Given the description of an element on the screen output the (x, y) to click on. 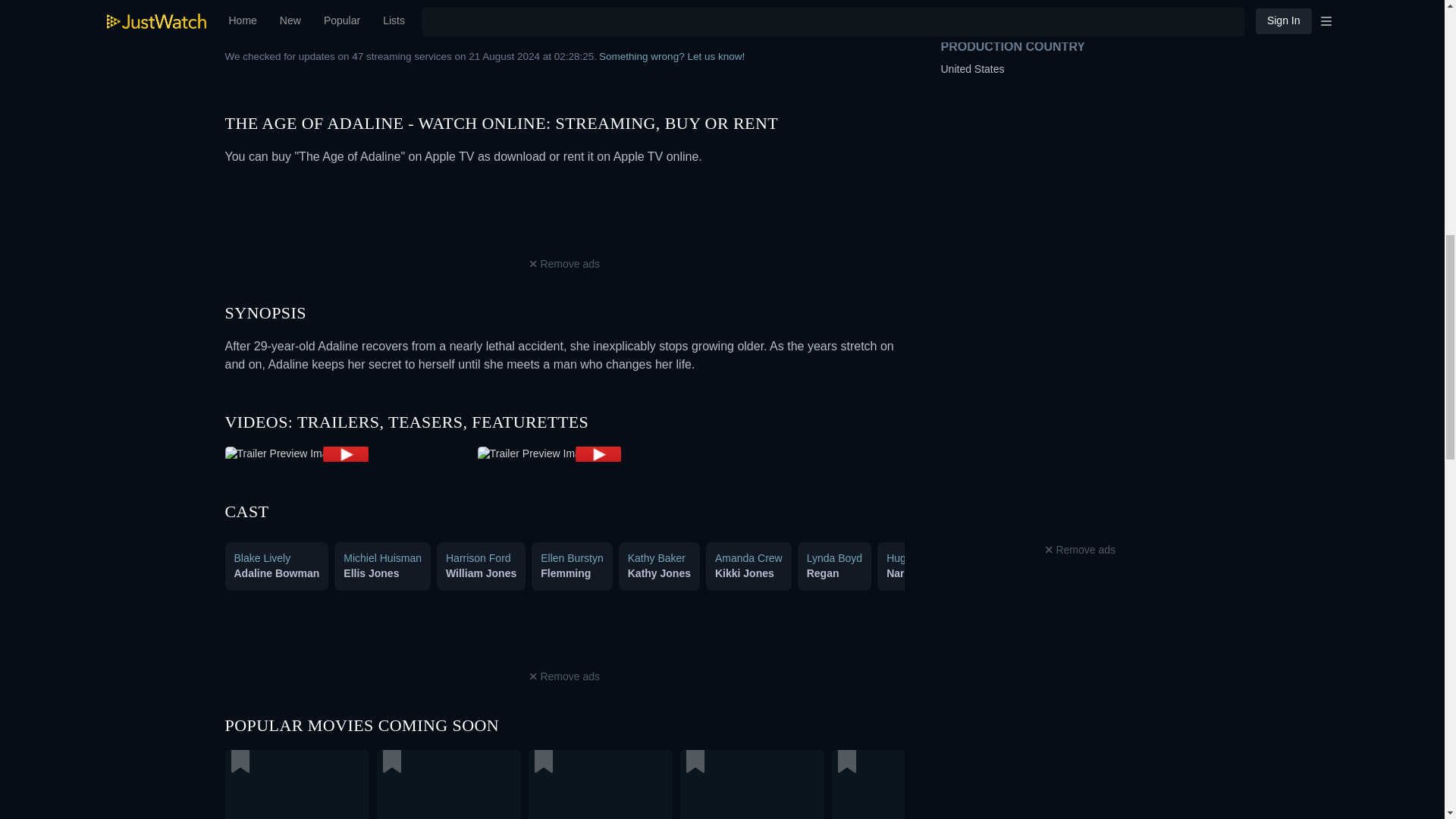
Flemming (565, 573)
Cora (1166, 573)
Kenneth (1245, 573)
Remove ads (564, 264)
Kikki Jones (744, 573)
Remove ads (1080, 550)
William Jones (480, 573)
Notify me (823, 6)
Narrator (907, 573)
Kathy Jones (658, 573)
